Given the description of an element on the screen output the (x, y) to click on. 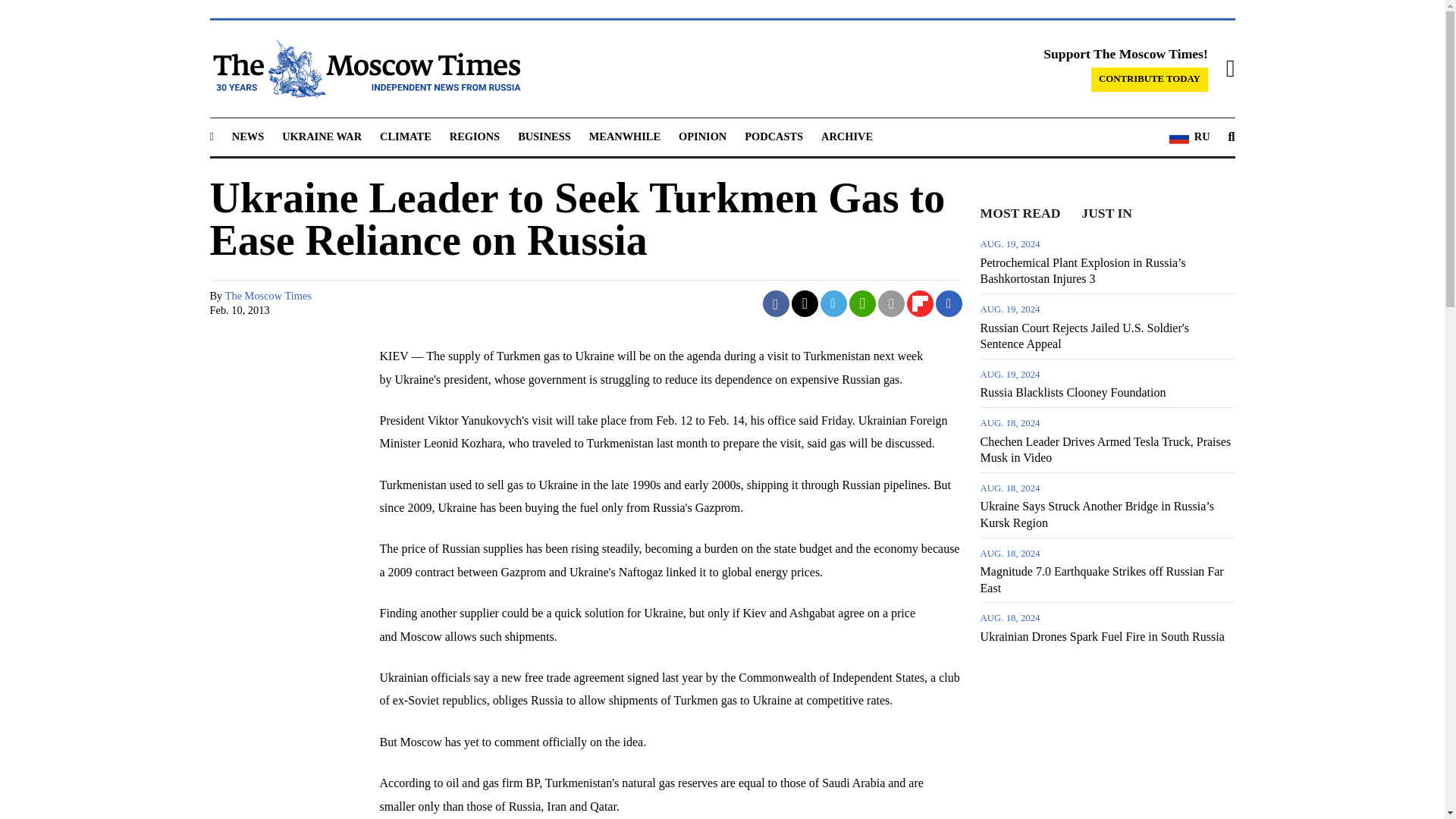
UKRAINE WAR (321, 136)
ARCHIVE (846, 136)
The Moscow Times - Independent News from Russia (364, 68)
MEANWHILE (625, 136)
BUSINESS (544, 136)
Share on Flipboard (920, 303)
OPINION (702, 136)
Share on Facebook (775, 303)
Share on Twitter (805, 303)
CONTRIBUTE TODAY (1149, 79)
